Given the description of an element on the screen output the (x, y) to click on. 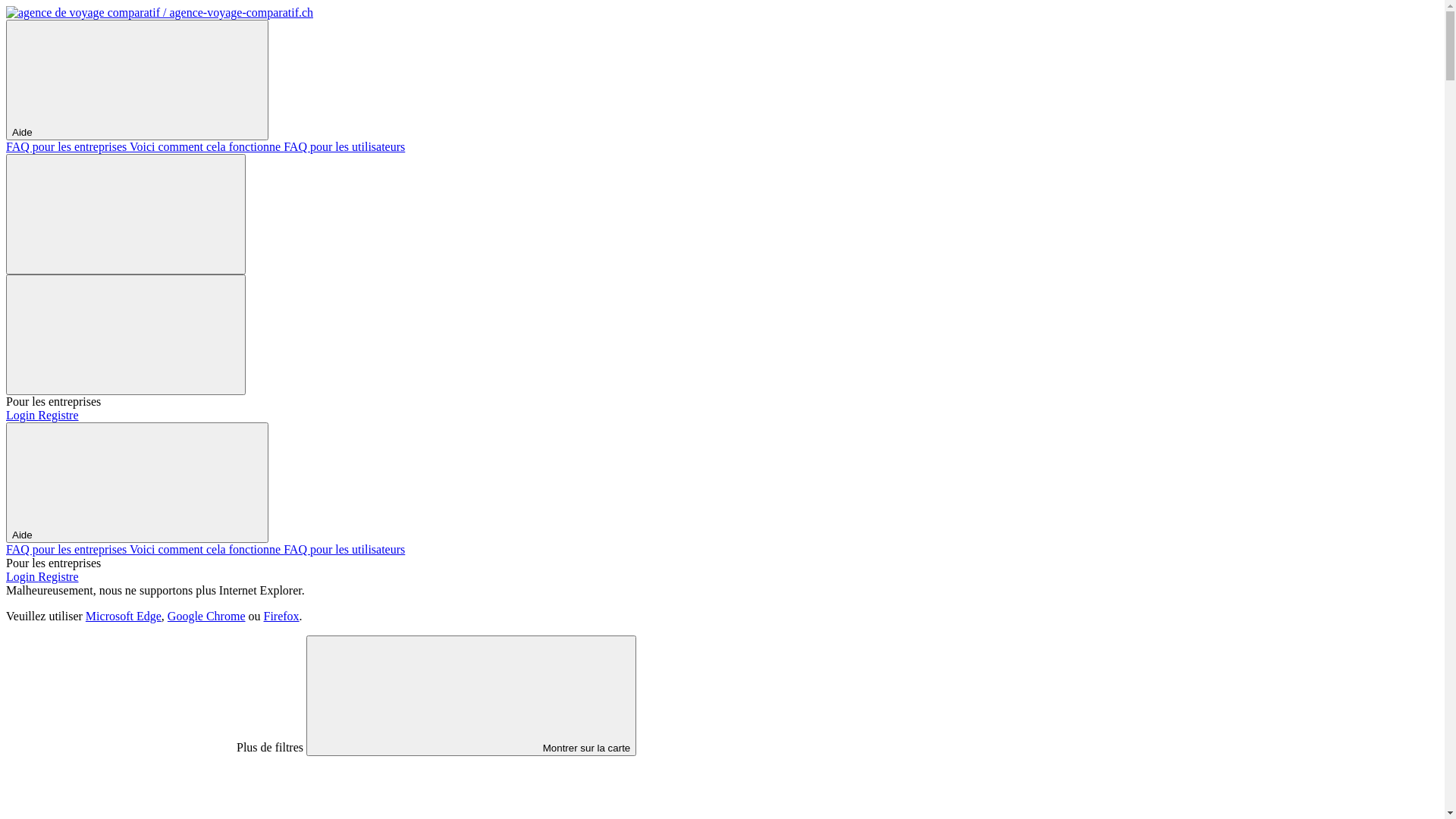
Aide Element type: text (137, 482)
Registre Element type: text (57, 576)
FAQ pour les entreprises Element type: text (67, 146)
Aide Element type: text (137, 79)
FAQ pour les utilisateurs Element type: text (343, 548)
Login Element type: text (21, 414)
Voici comment cela fonctionne Element type: text (206, 548)
Voici comment cela fonctionne Element type: text (206, 146)
FAQ pour les utilisateurs Element type: text (343, 146)
FAQ pour les entreprises Element type: text (67, 548)
Firefox Element type: text (281, 615)
Microsoft Edge Element type: text (123, 615)
Montrer sur la carte Montrer sur la carte Element type: text (471, 695)
Registre Element type: text (57, 414)
Login Element type: text (21, 576)
Google Chrome Element type: text (206, 615)
